Given the description of an element on the screen output the (x, y) to click on. 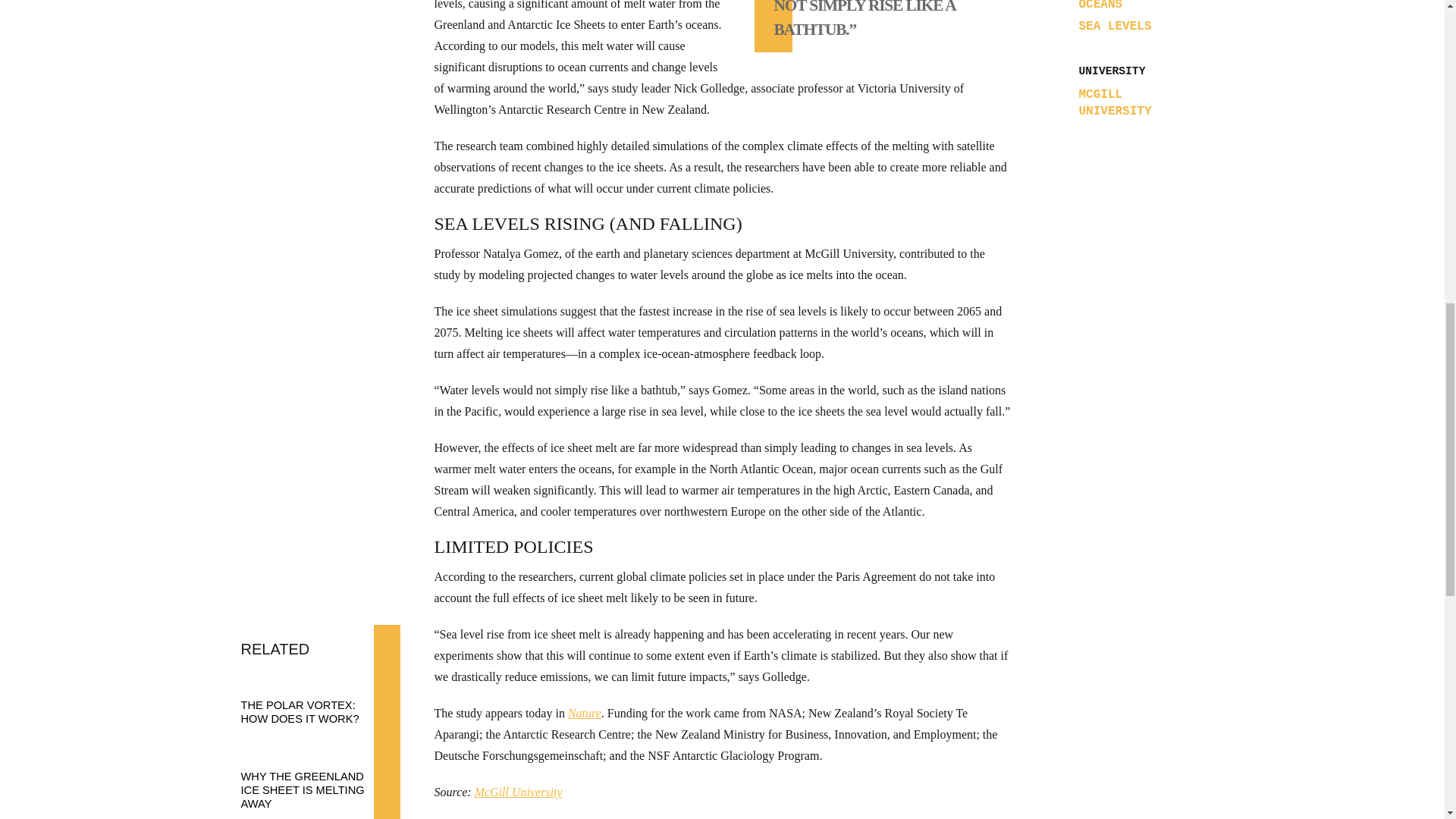
MCGILL UNIVERSITY (1135, 102)
The polar vortex: How does it work? (313, 697)
SEA LEVELS (1114, 26)
OCEANS (1100, 5)
